Given the description of an element on the screen output the (x, y) to click on. 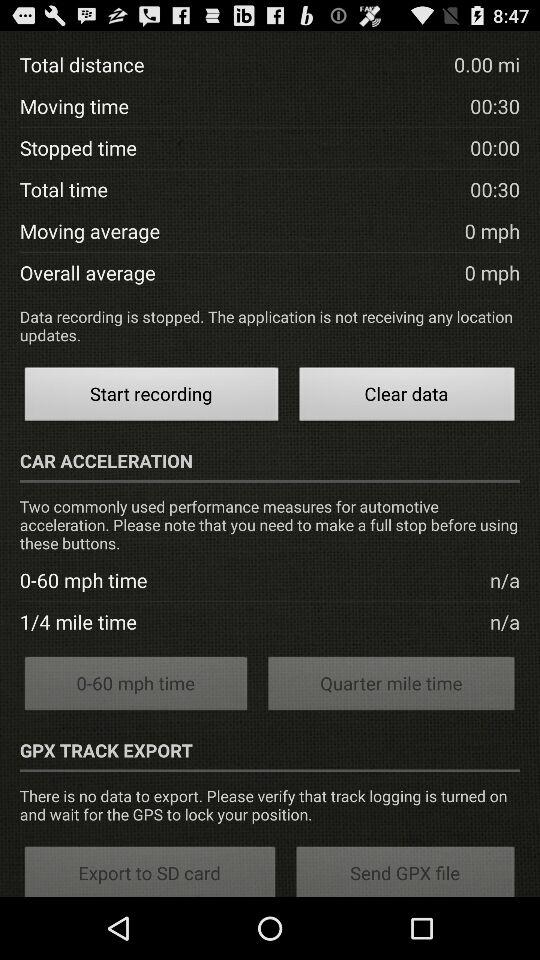
open button to the right of the export to sd icon (405, 870)
